Given the description of an element on the screen output the (x, y) to click on. 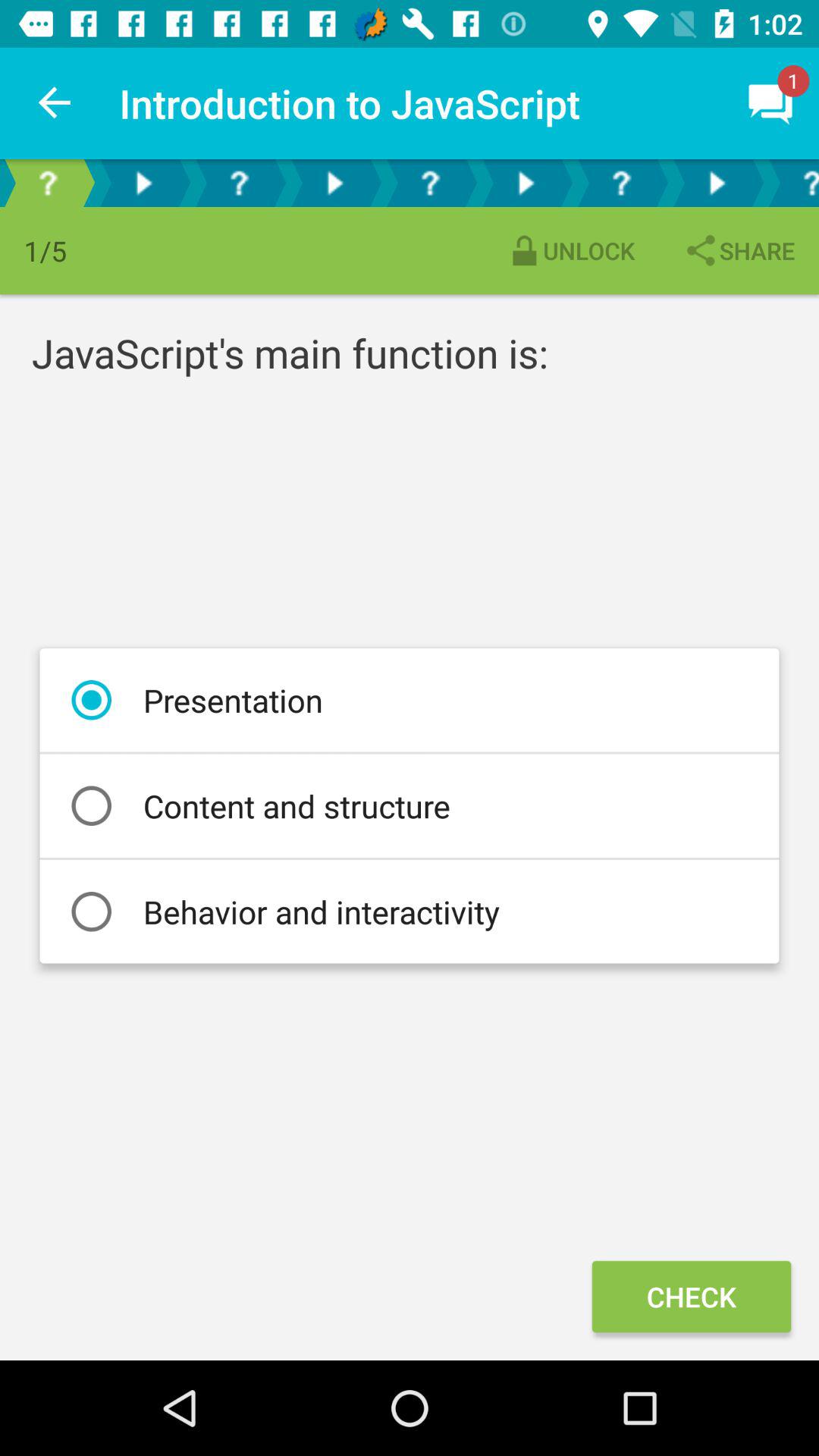
jump to question (429, 183)
